Given the description of an element on the screen output the (x, y) to click on. 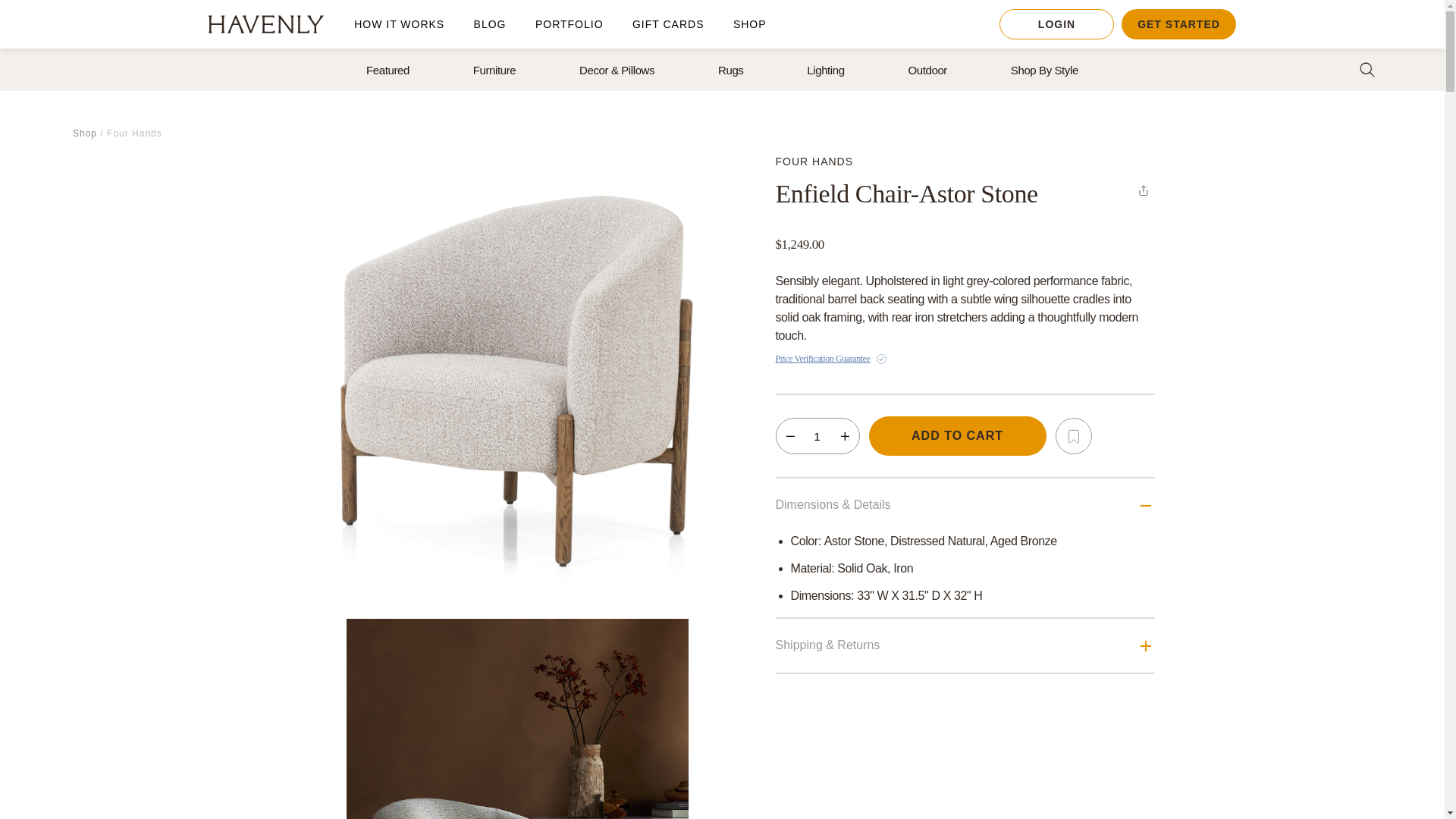
PORTFOLIO (569, 24)
HOW IT WORKS (398, 24)
